Given the description of an element on the screen output the (x, y) to click on. 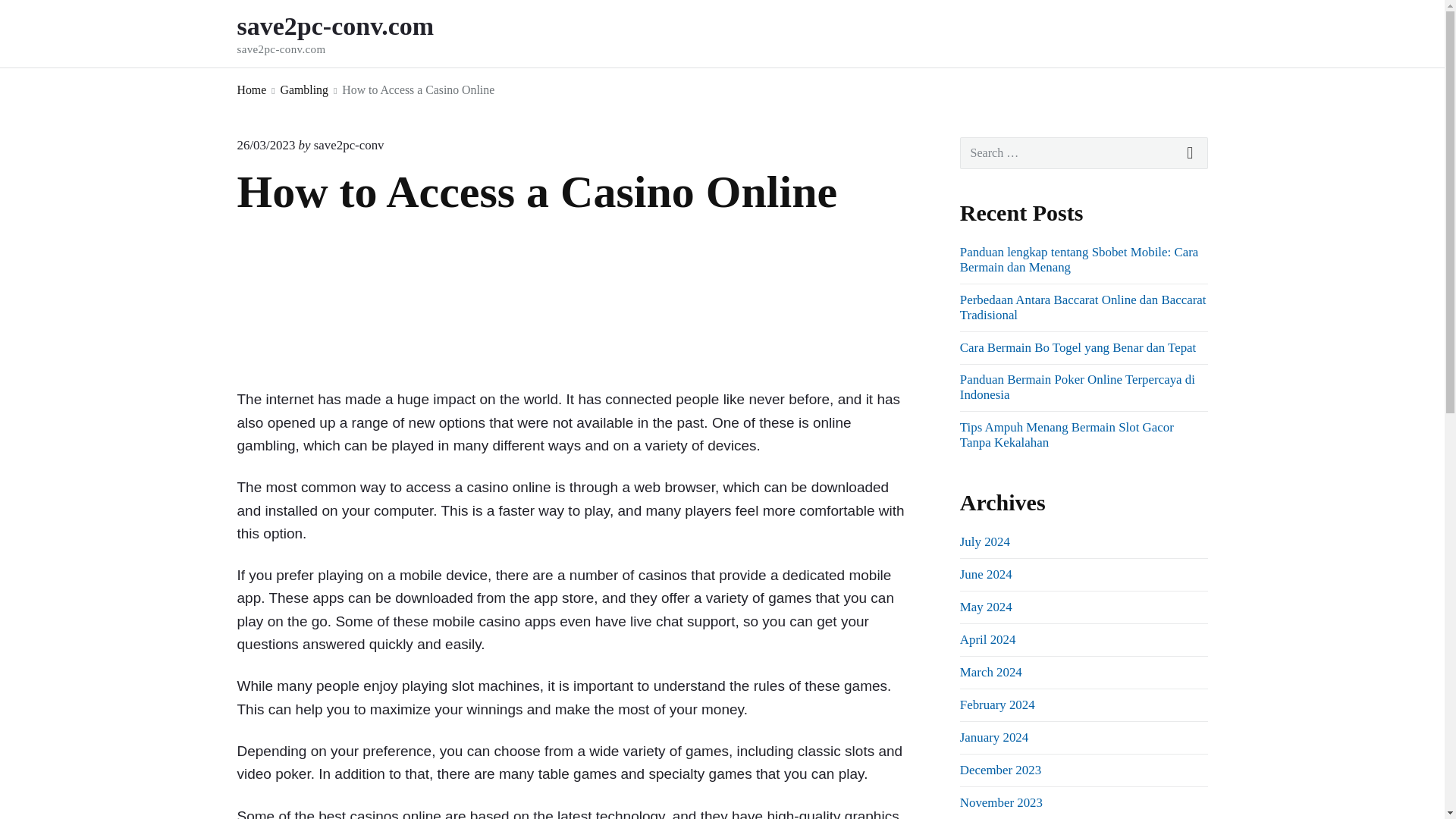
SEARCH (1190, 152)
Tips Ampuh Menang Bermain Slot Gacor Tanpa Kekalahan (1066, 434)
Panduan Bermain Poker Online Terpercaya di Indonesia (1077, 387)
March 2024 (990, 672)
Sunday, March 26, 2023, 12:38 am (265, 145)
Cara Bermain Bo Togel yang Benar dan Tepat (1077, 347)
save2pc-conv (349, 145)
November 2023 (1000, 802)
April 2024 (355, 33)
Home (987, 639)
Perbedaan Antara Baccarat Online dan Baccarat Tradisional (250, 89)
May 2024 (1083, 307)
December 2023 (985, 606)
